Given the description of an element on the screen output the (x, y) to click on. 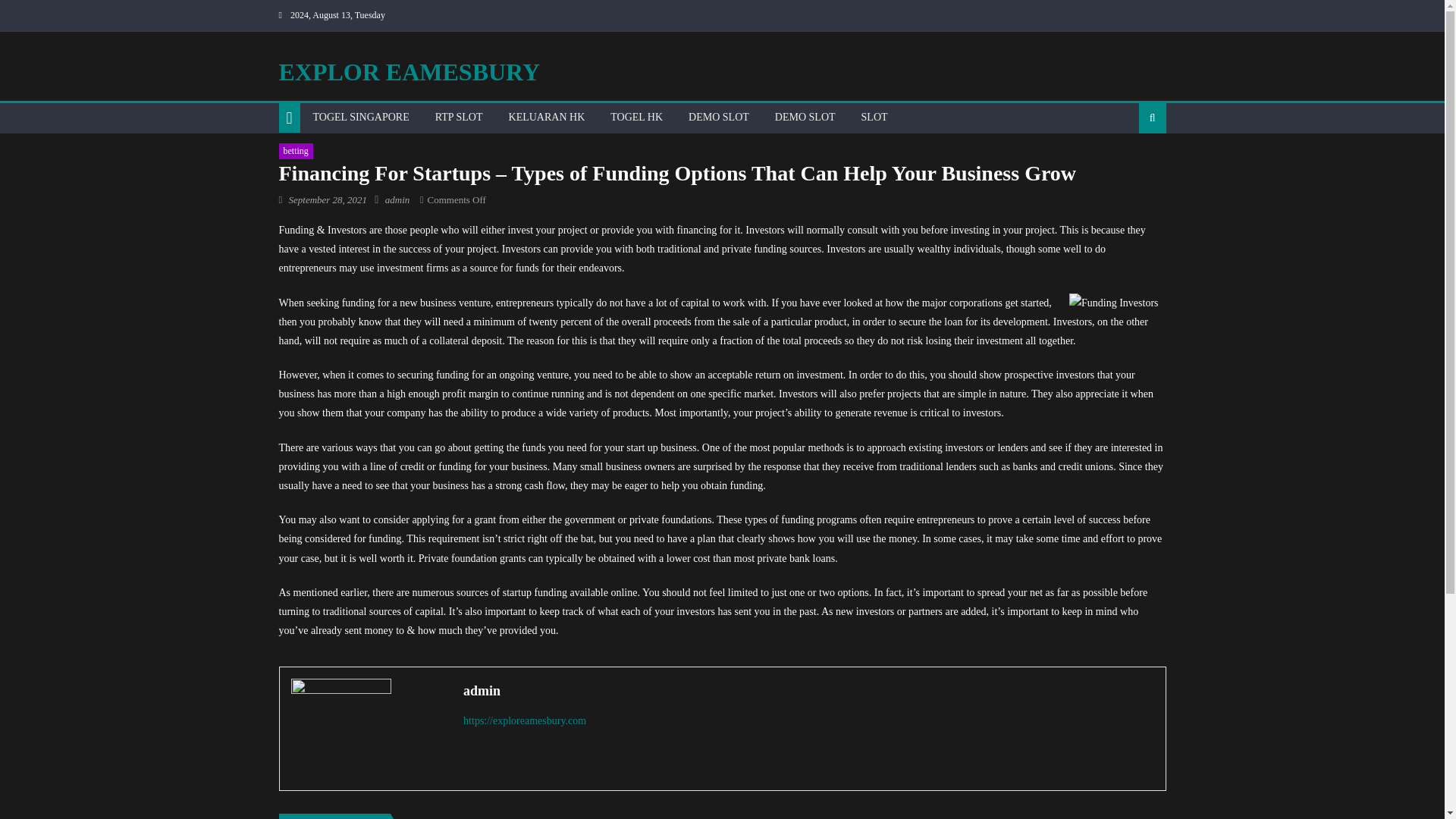
DEMO SLOT (718, 117)
EXPLOR EAMESBURY (409, 71)
September 28, 2021 (327, 199)
admin (808, 690)
TOGEL SINGAPORE (360, 117)
betting (296, 151)
DEMO SLOT (804, 117)
SLOT (874, 117)
RTP SLOT (459, 117)
admin (397, 199)
